Given the description of an element on the screen output the (x, y) to click on. 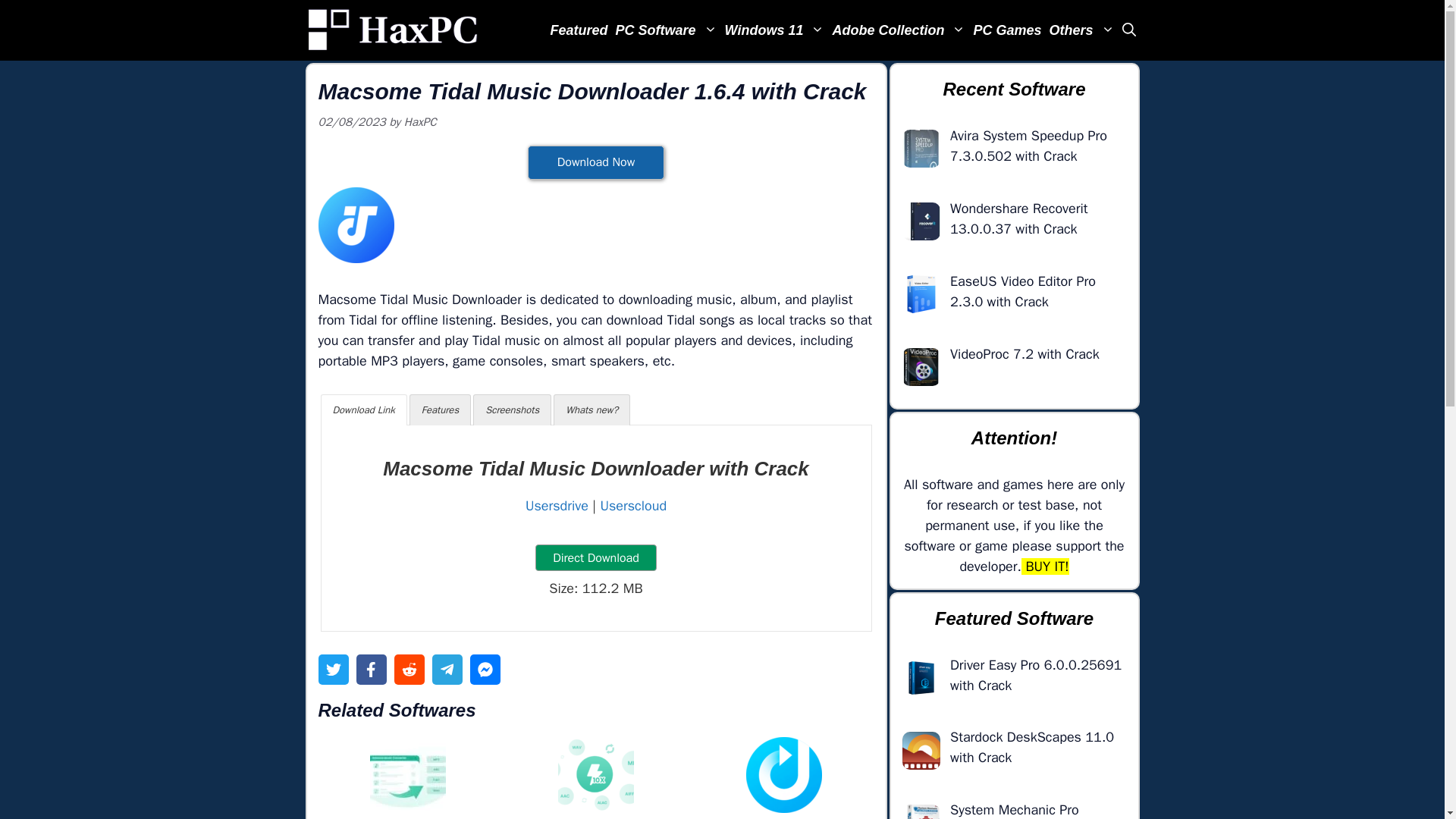
Usersdrive (556, 505)
Windows 11 (774, 30)
Adobe Collection (898, 30)
HaxPC (392, 30)
PC Software (665, 30)
Userscloud (632, 505)
Download Now (595, 162)
PC Games (1007, 30)
Featured (578, 30)
Macsome Tidal Music Downloader Logo (356, 224)
Direct Download (595, 557)
Others (1081, 30)
